Given the description of an element on the screen output the (x, y) to click on. 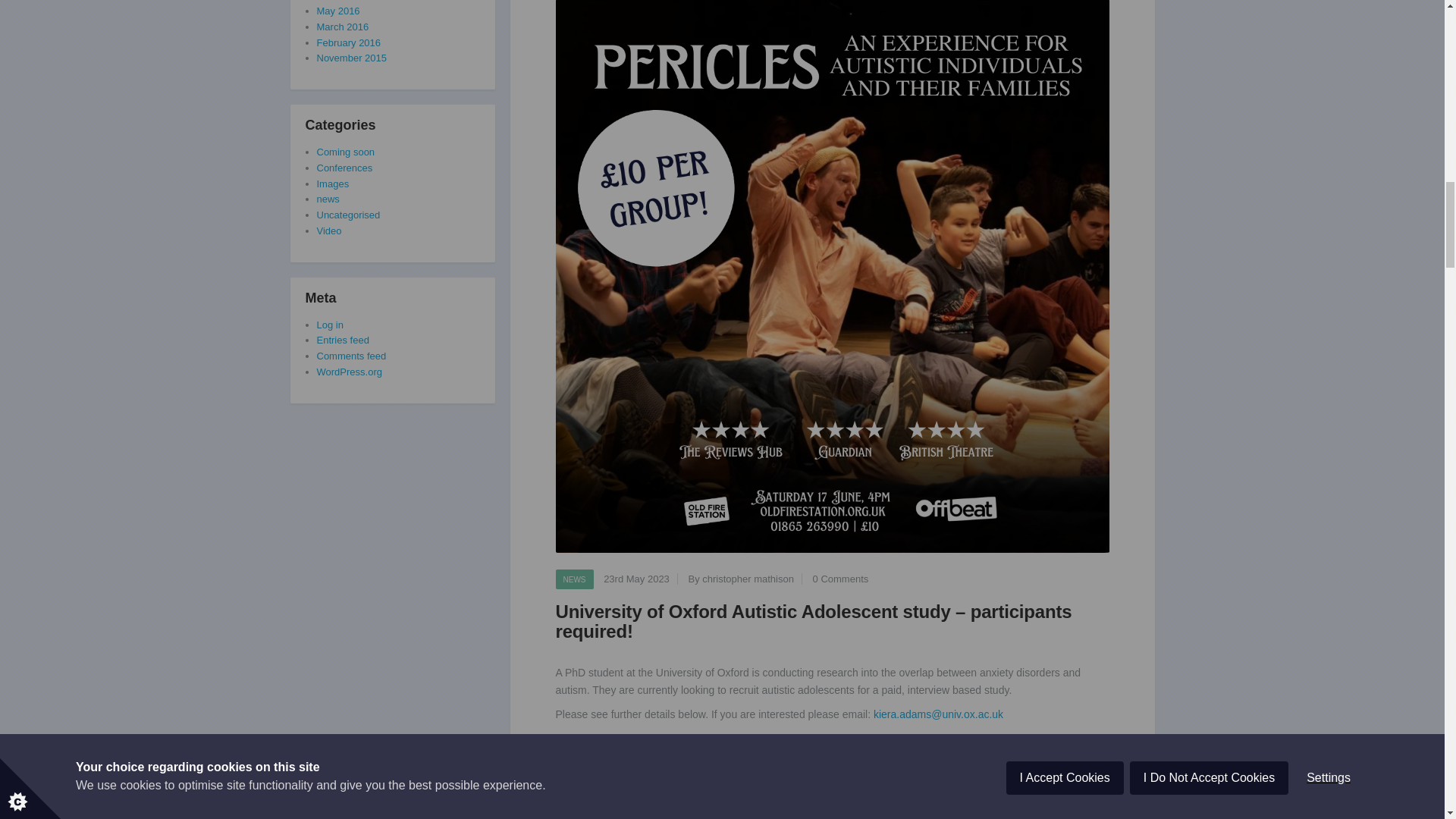
NEWS (573, 578)
0 Comments (840, 578)
